Given the description of an element on the screen output the (x, y) to click on. 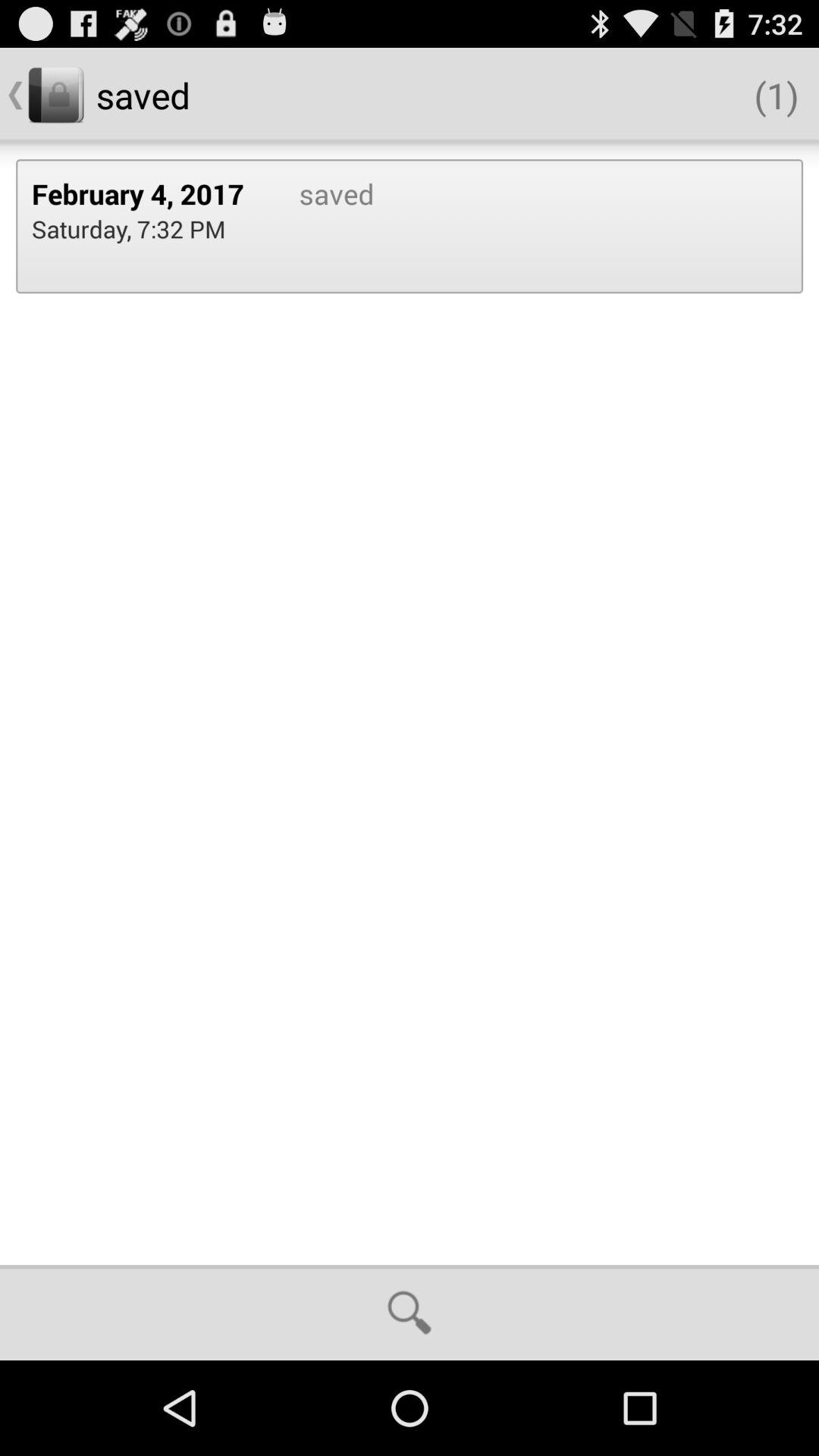
turn on the saturday 7 32 icon (128, 228)
